Given the description of an element on the screen output the (x, y) to click on. 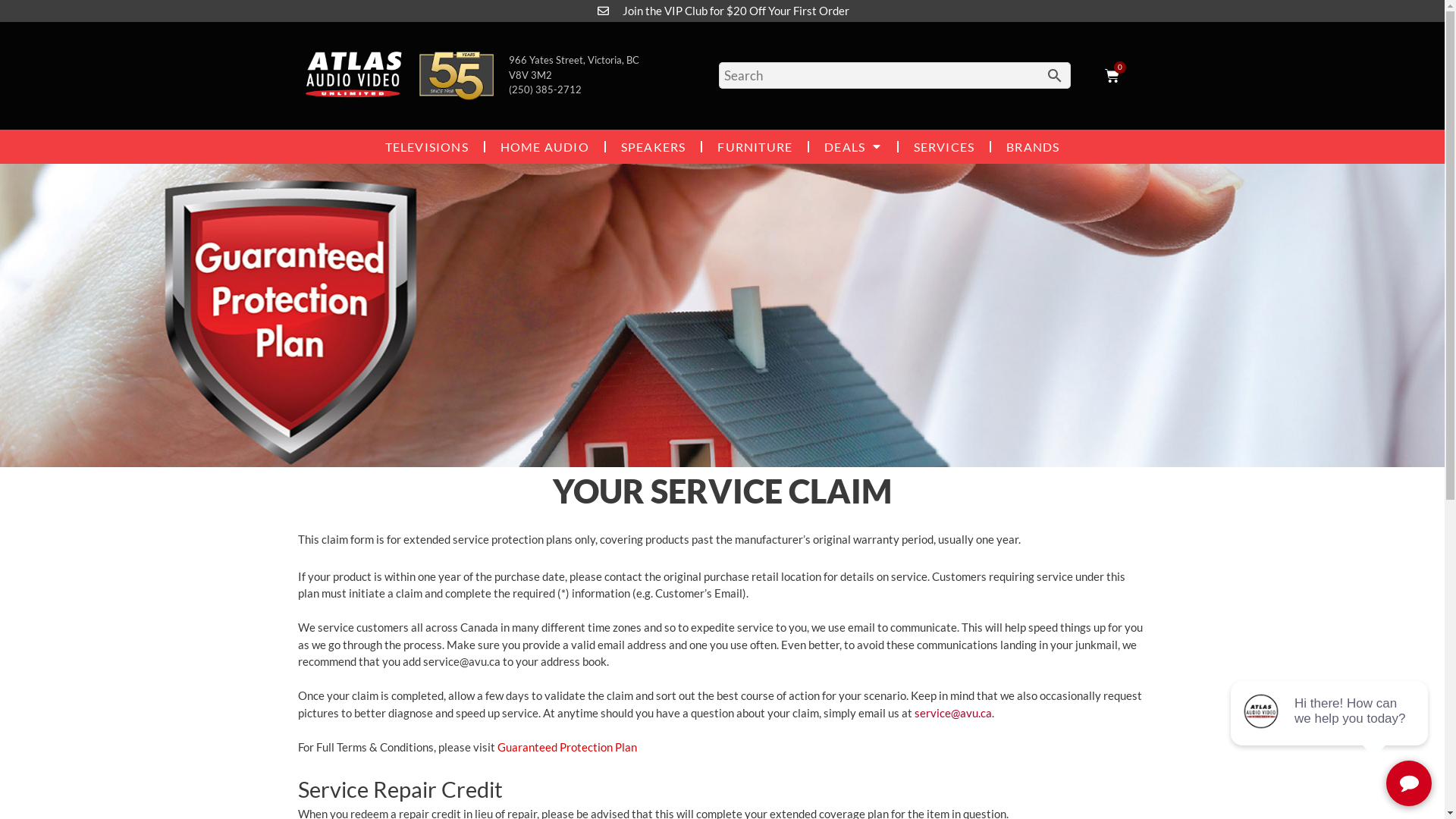
service@avu.ca Element type: text (952, 712)
TELEVISIONS Element type: text (426, 146)
(250) 385-2712 Element type: text (544, 89)
HOME AUDIO Element type: text (544, 146)
FURNITURE Element type: text (754, 146)
0 Element type: text (1111, 75)
SPEAKERS Element type: text (653, 146)
SERVICES Element type: text (943, 146)
Join the VIP Club for $20 Off Your First Order Element type: text (734, 10)
BRANDS Element type: text (1032, 146)
DEALS Element type: text (852, 146)
Guaranteed Protection Plan Element type: text (567, 746)
